Given the description of an element on the screen output the (x, y) to click on. 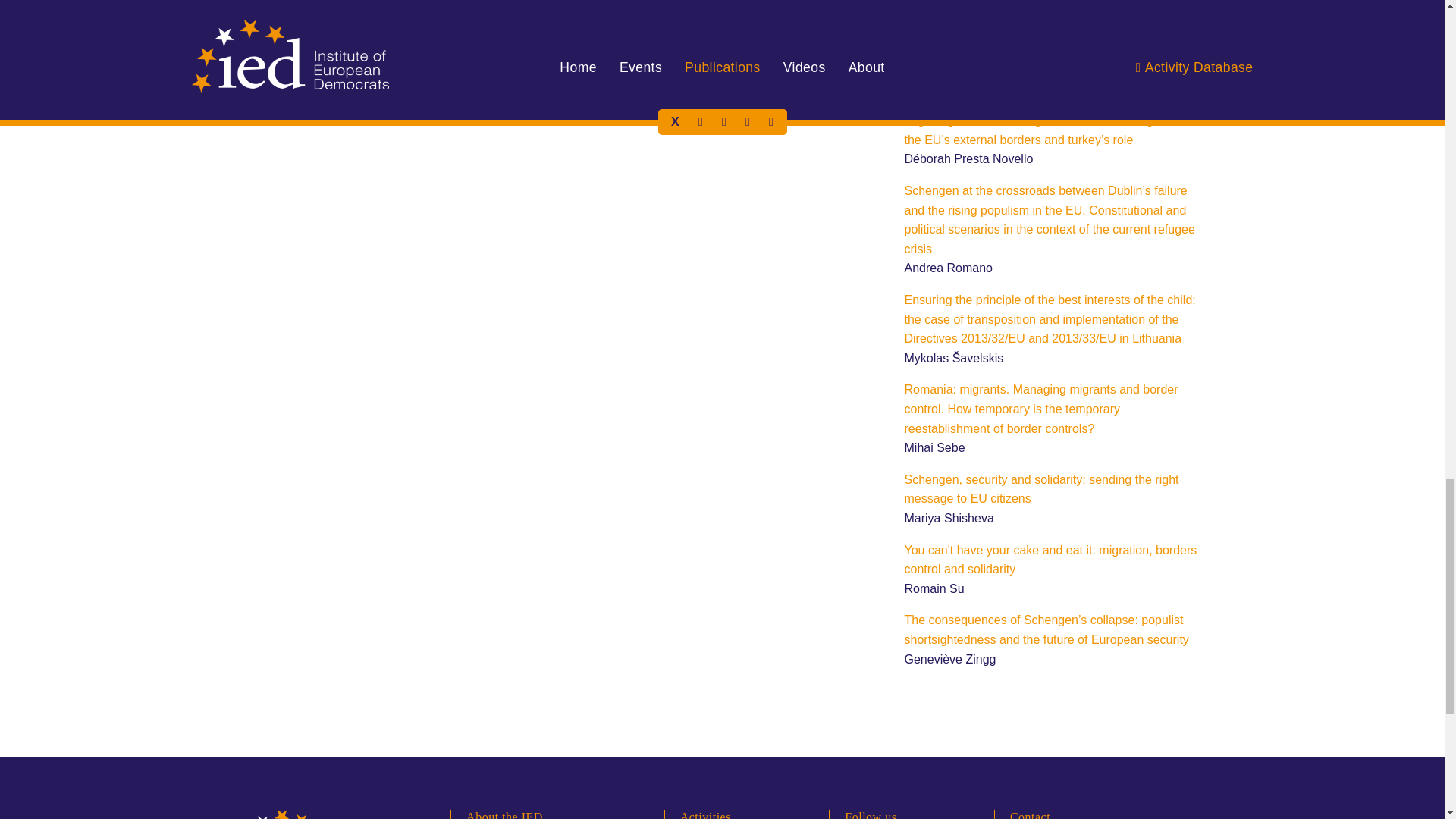
What Schengen can learn from the Euro crisis (1027, 50)
IED Institute of European Democrats Brussels (311, 814)
